Given the description of an element on the screen output the (x, y) to click on. 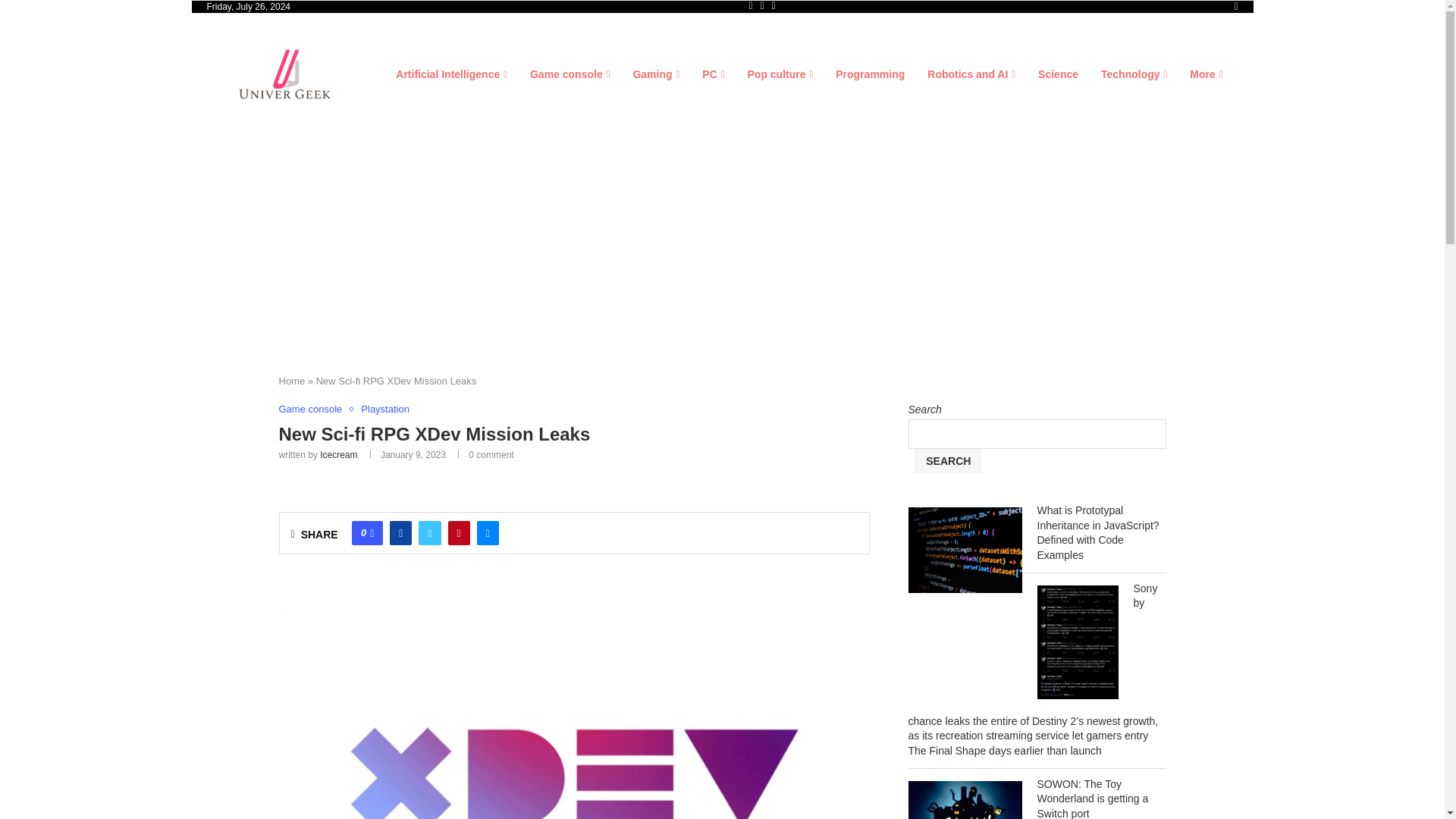
Artificial Intelligence (451, 74)
Game console (569, 74)
